Given the description of an element on the screen output the (x, y) to click on. 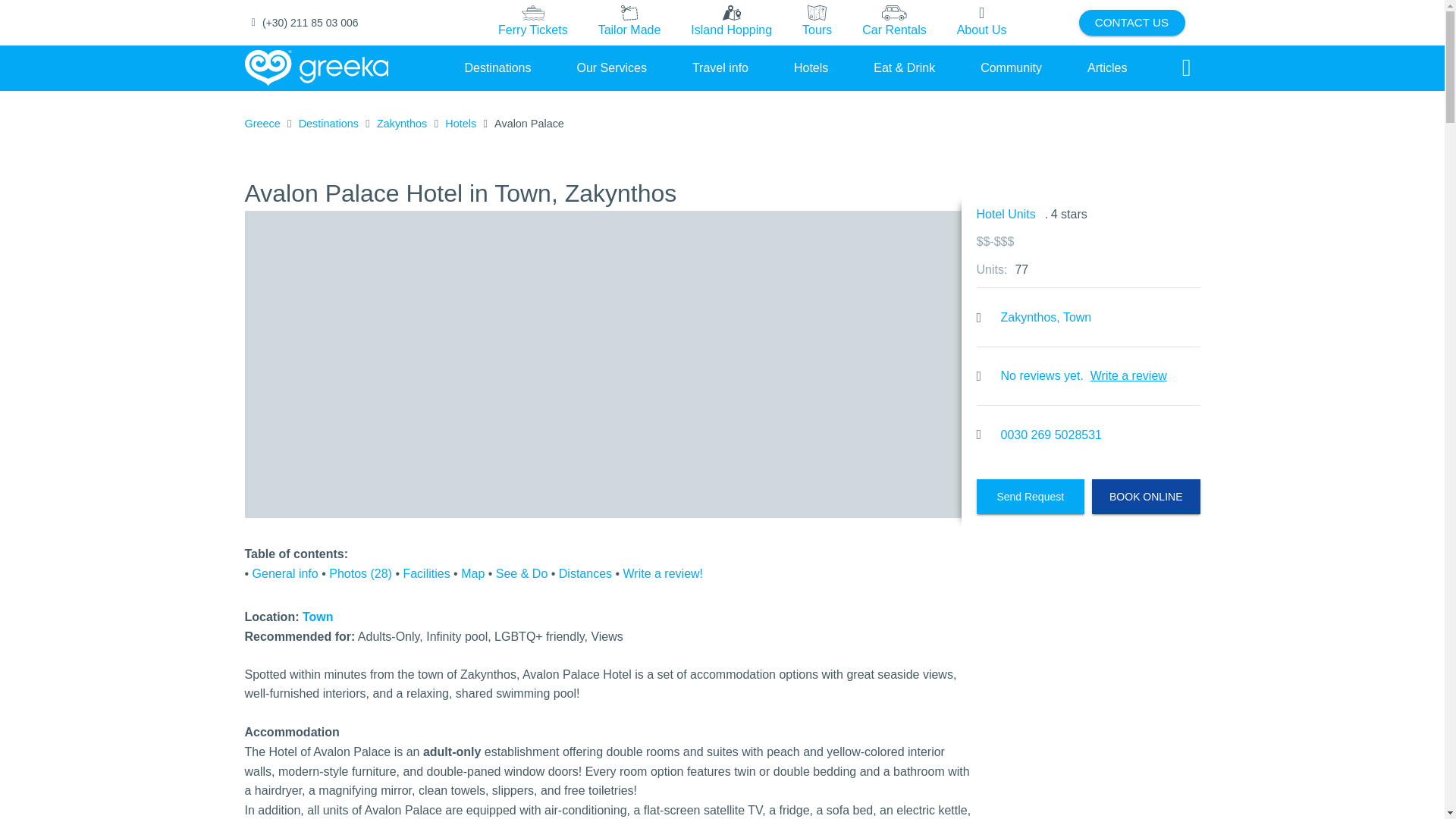
Destinations (328, 123)
Write a review! (663, 573)
About Us (982, 22)
Tours (817, 22)
Island Hopping (730, 22)
Destinations (497, 67)
Send Request (1030, 496)
Ferry Tickets (532, 22)
Island hopping (731, 22)
Travel info (720, 67)
